Given the description of an element on the screen output the (x, y) to click on. 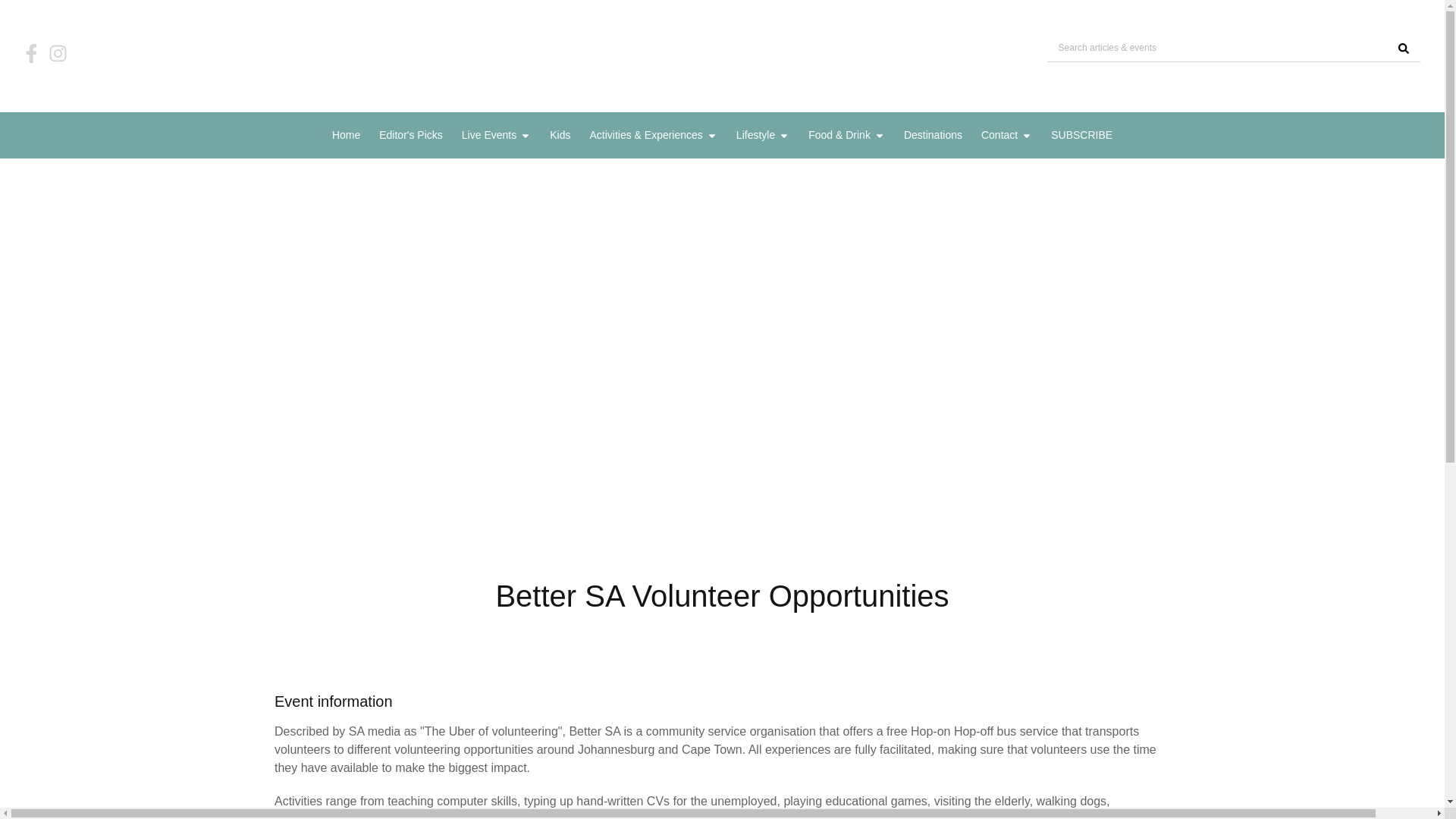
Kids (560, 135)
Live Events (488, 135)
Home (345, 135)
Lifestyle (755, 135)
Editor's Picks (410, 135)
